Given the description of an element on the screen output the (x, y) to click on. 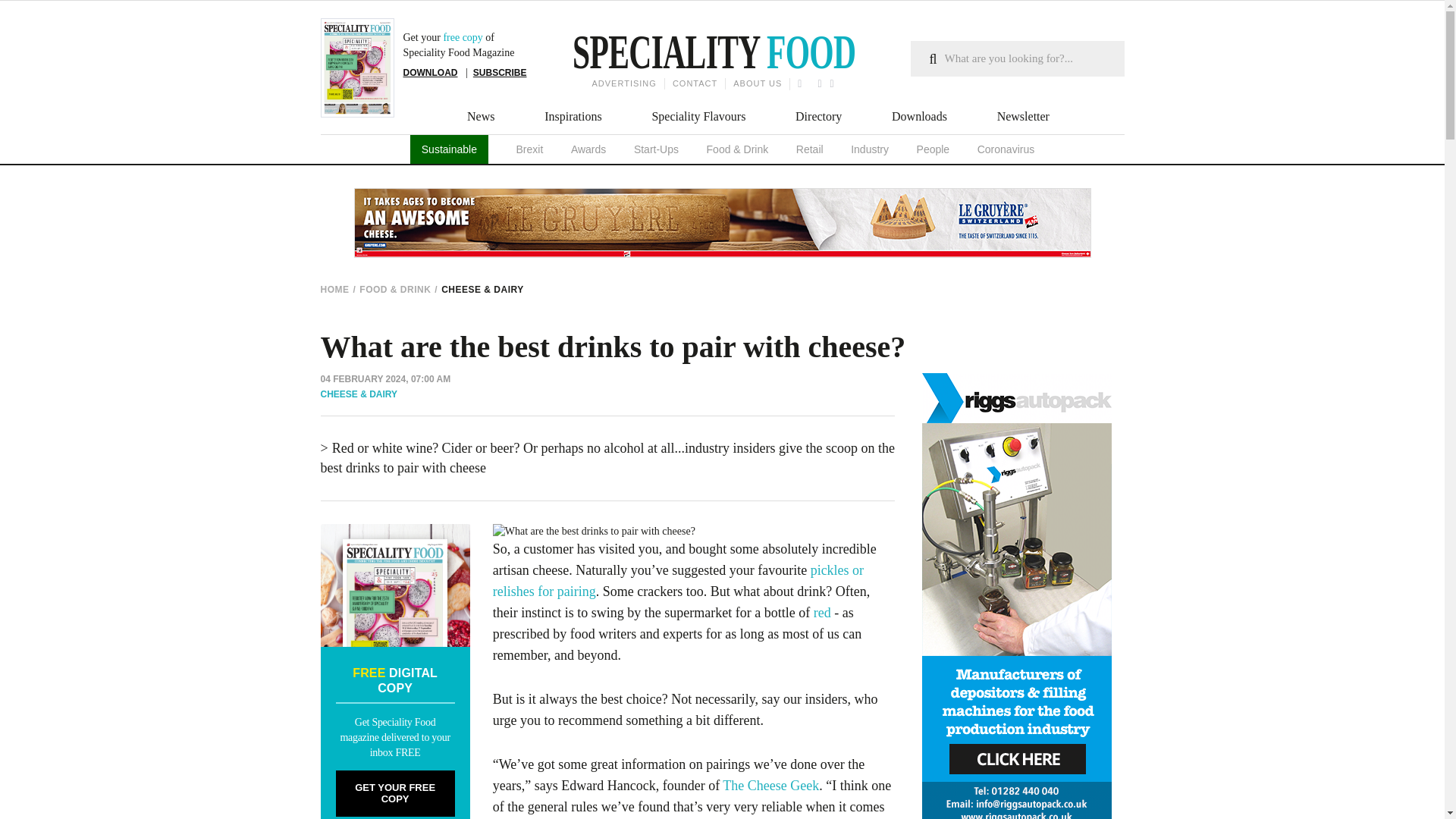
Speciality Flavours (697, 116)
ABOUT US (757, 83)
Industry (869, 149)
Start Ups (655, 149)
News (481, 116)
Newsletter (1023, 116)
Industry (869, 149)
ADVERTISING (619, 83)
Newsletter (1023, 116)
SUBSCRIBE (500, 72)
HOME (336, 289)
People (933, 149)
Advertise (619, 83)
News (481, 116)
pickles or relishes for pairing (678, 580)
